Given the description of an element on the screen output the (x, y) to click on. 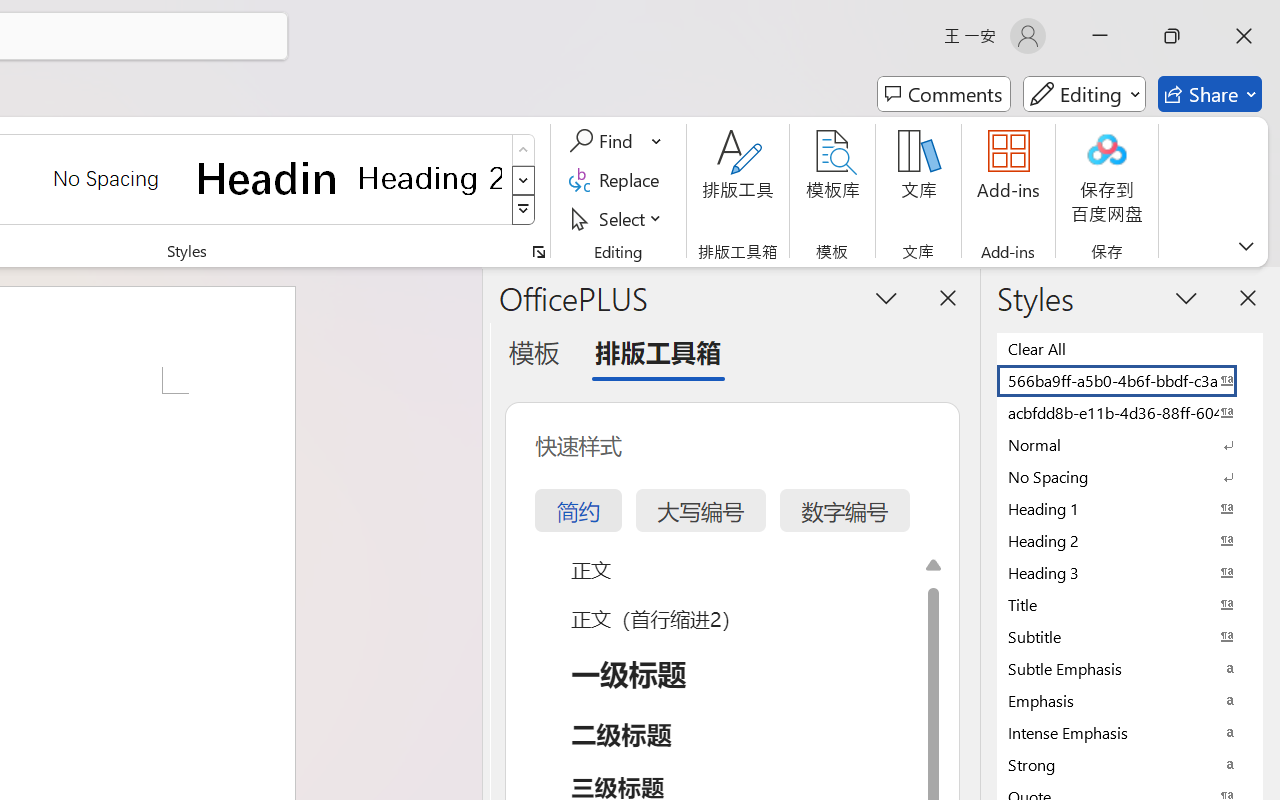
Share (1210, 94)
No Spacing (1130, 476)
acbfdd8b-e11b-4d36-88ff-6049b138f862 (1130, 412)
566ba9ff-a5b0-4b6f-bbdf-c3ab41993fc2 (1130, 380)
Find (616, 141)
Row Down (523, 180)
Mode (1083, 94)
Task Pane Options (886, 297)
